Given the description of an element on the screen output the (x, y) to click on. 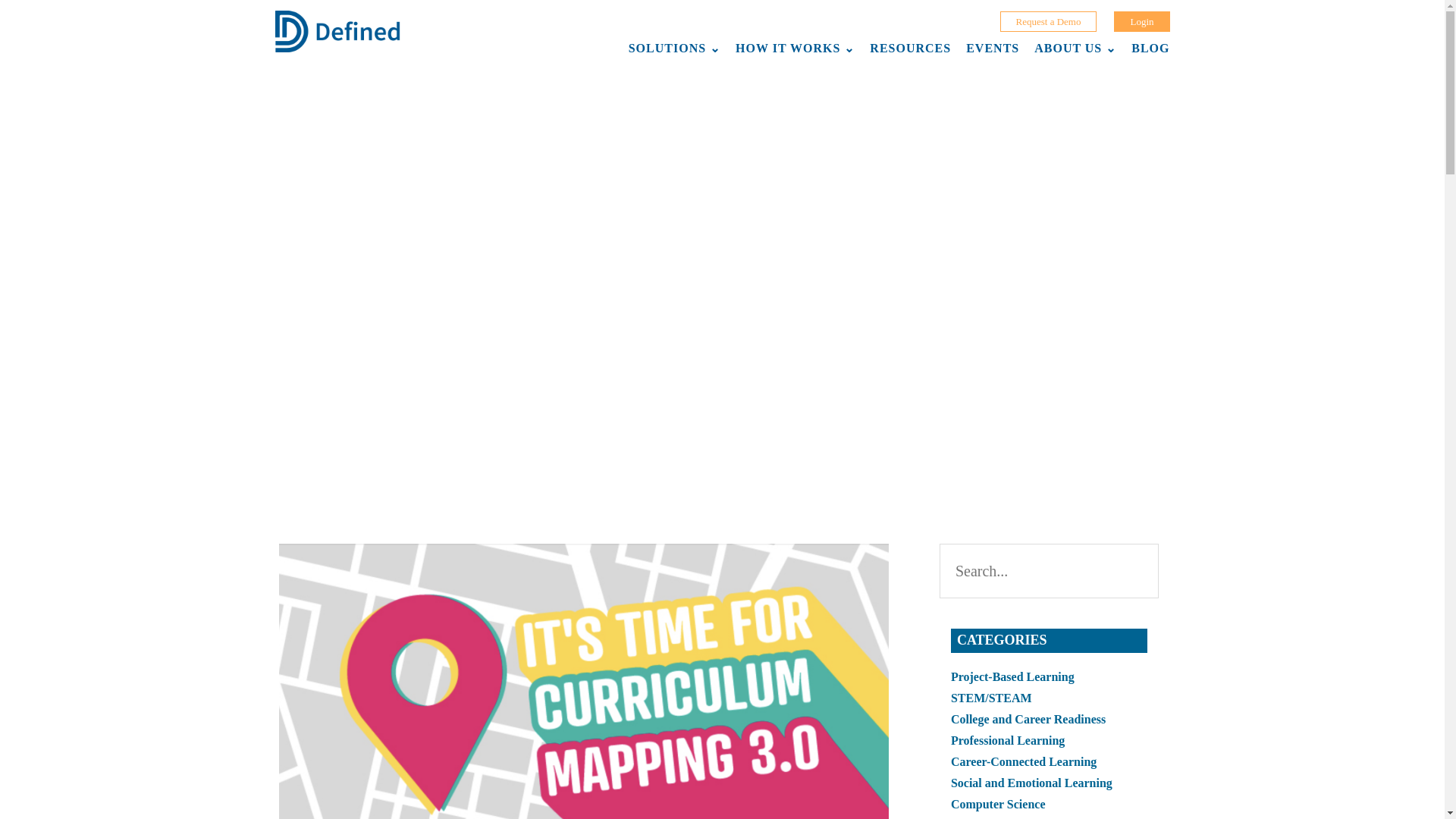
EVENTS (992, 48)
Login (1141, 21)
Request a Demo (1048, 21)
RESOURCES (909, 48)
BLOG (1146, 48)
